Given the description of an element on the screen output the (x, y) to click on. 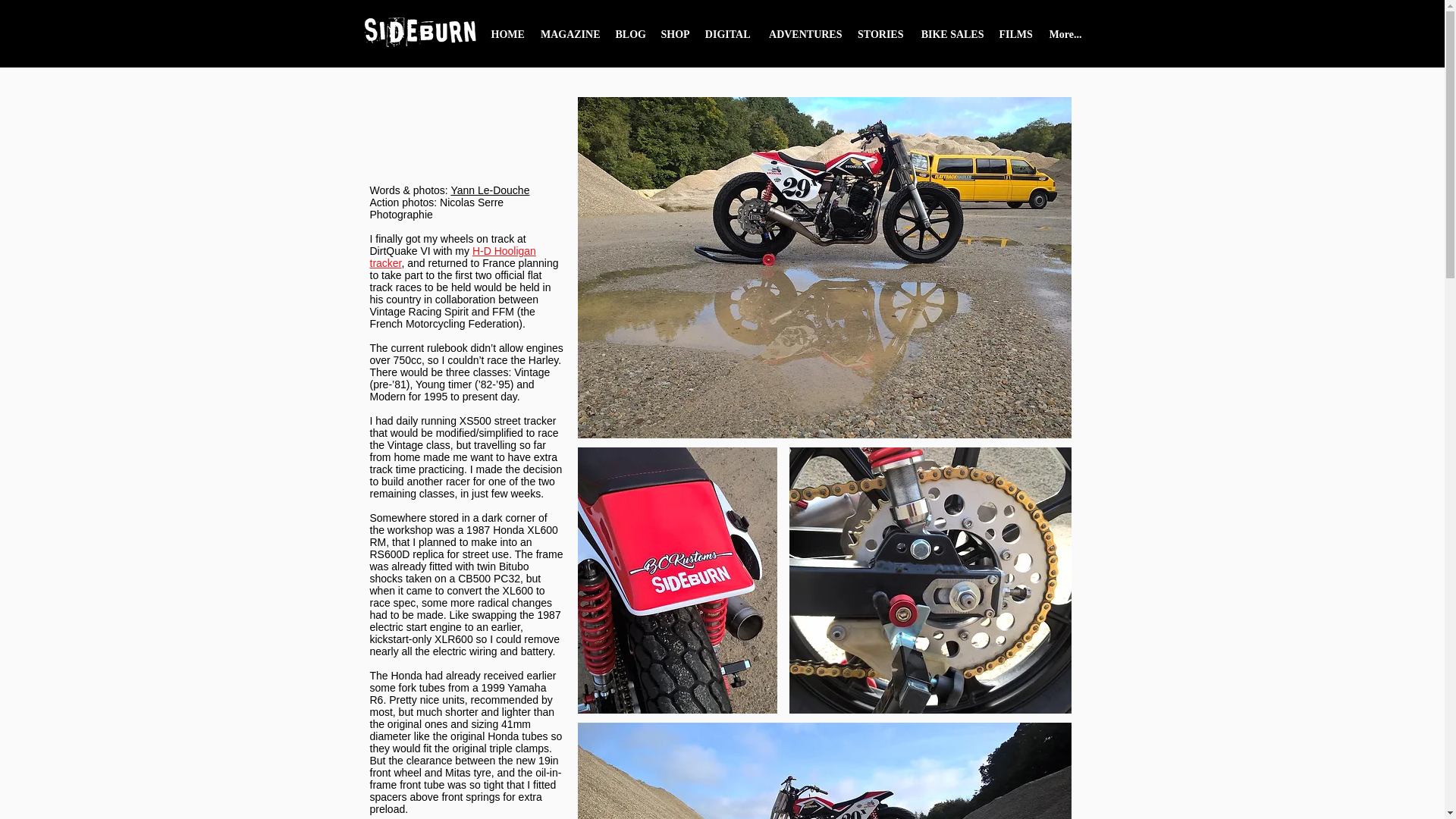
Yann Le-Douche (489, 190)
BIKE SALES (951, 39)
HOME (507, 39)
H-D Hooligan tracker (452, 256)
ADVENTURES (804, 39)
FILMS (1016, 39)
BLOG (630, 39)
DIGITAL (727, 39)
STORIES (879, 39)
